Given the description of an element on the screen output the (x, y) to click on. 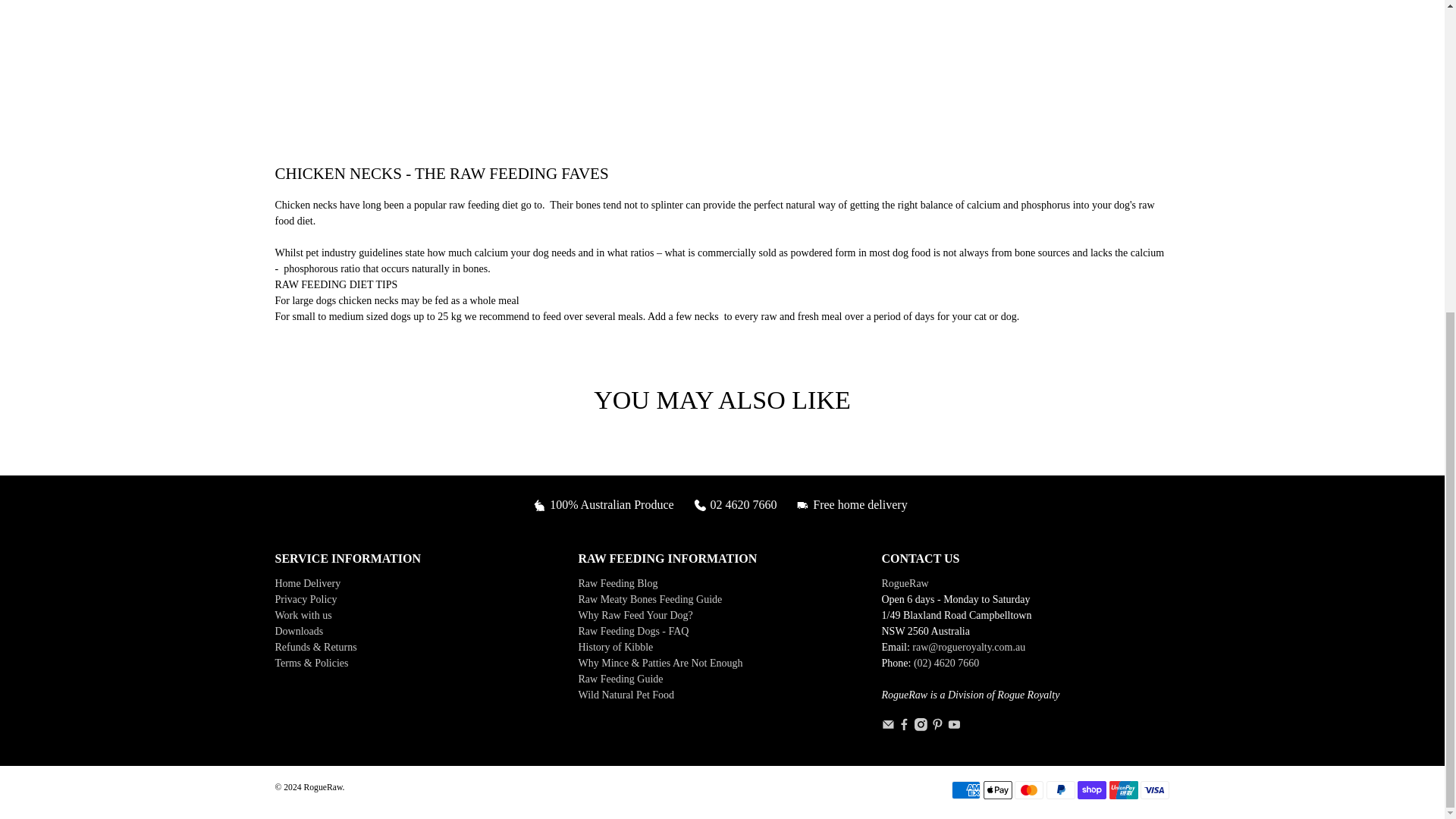
Email RogueRaw (886, 727)
RogueRaw on Pinterest (937, 727)
RogueRaw on YouTube (953, 727)
RogueRaw on Facebook (904, 727)
RogueRaw on Instagram (920, 727)
